Given the description of an element on the screen output the (x, y) to click on. 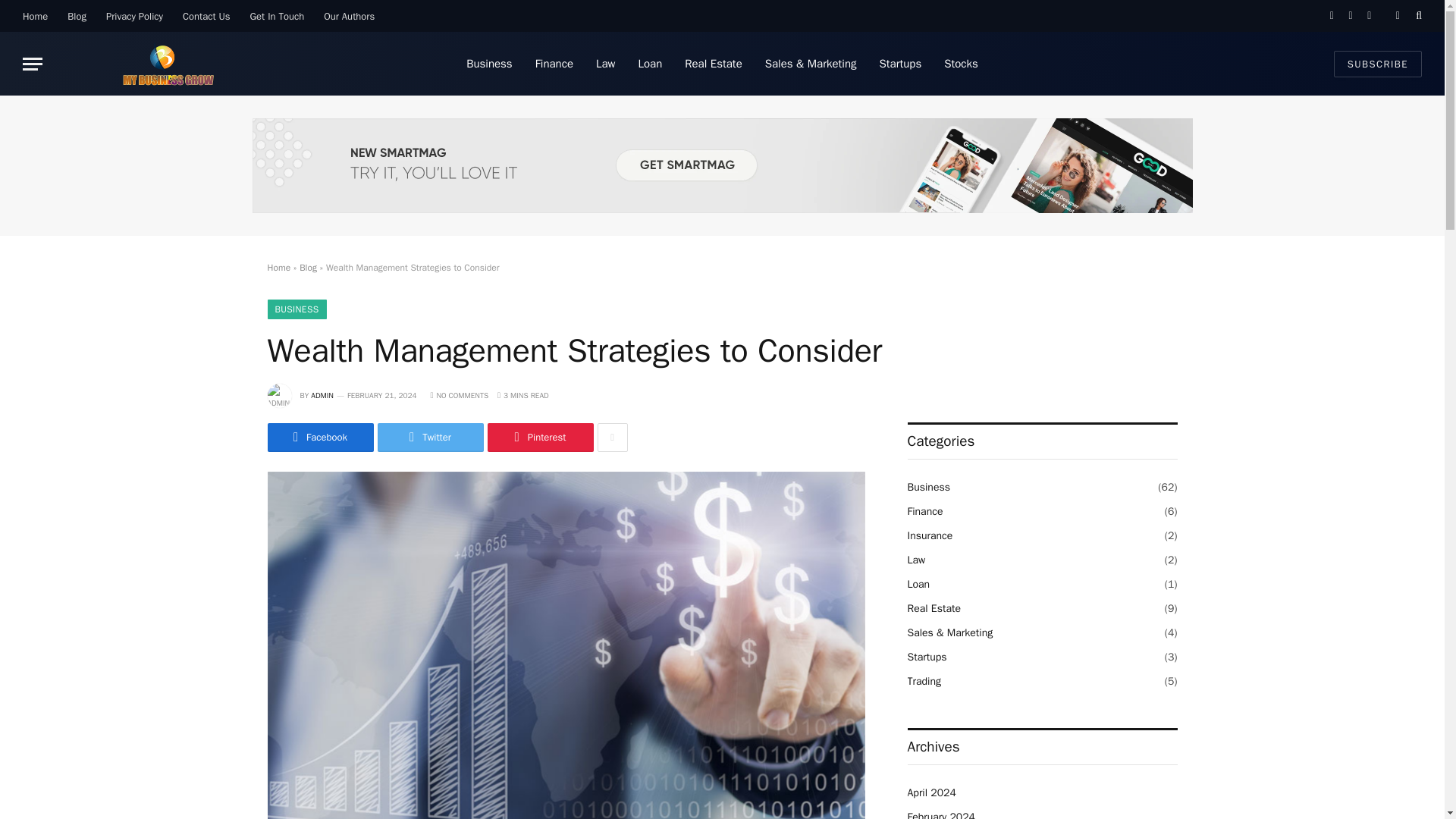
Switch to Dark Design - easier on eyes. (1397, 15)
Share on Facebook (319, 437)
Posts by admin (322, 395)
Our Authors (349, 15)
Get In Touch (277, 15)
Contact Us (206, 15)
Home (35, 15)
My Business Grow (167, 63)
Blog (77, 15)
Finance (554, 63)
